Given the description of an element on the screen output the (x, y) to click on. 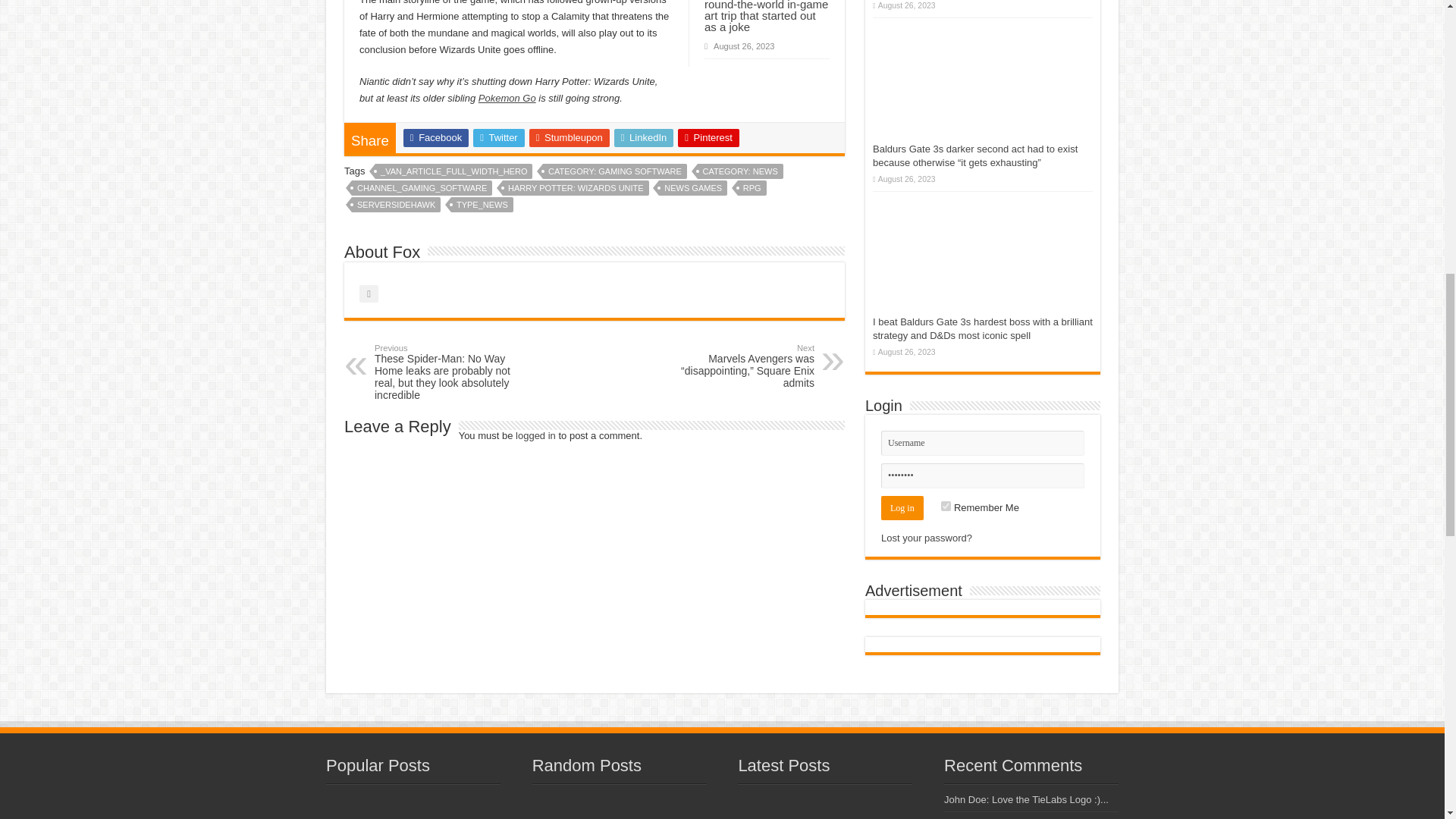
Username (982, 442)
forever (945, 506)
Log in (901, 508)
Password (982, 475)
